Given the description of an element on the screen output the (x, y) to click on. 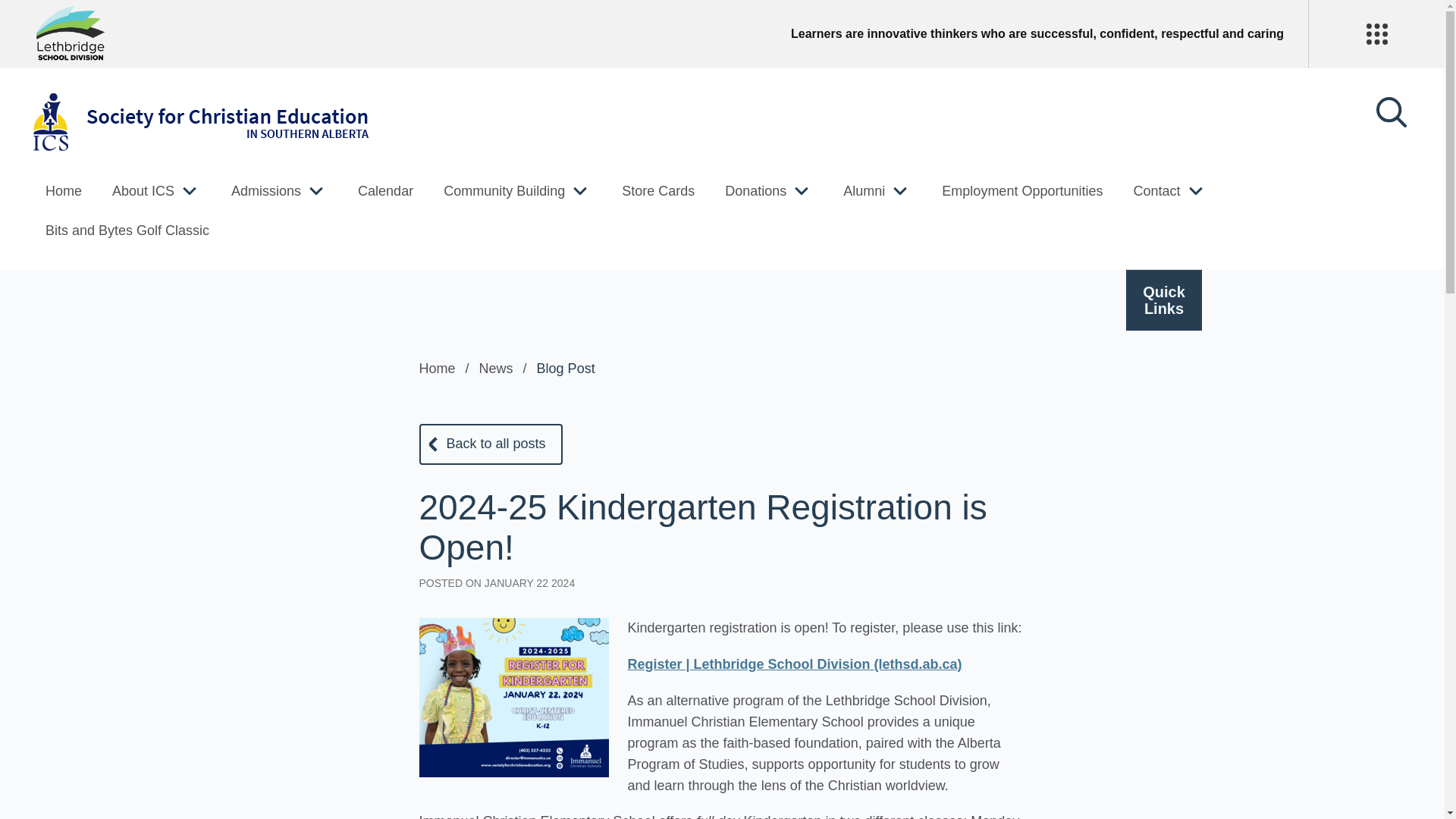
About ICS (143, 191)
Home (63, 191)
Quick Links (1163, 299)
